Given the description of an element on the screen output the (x, y) to click on. 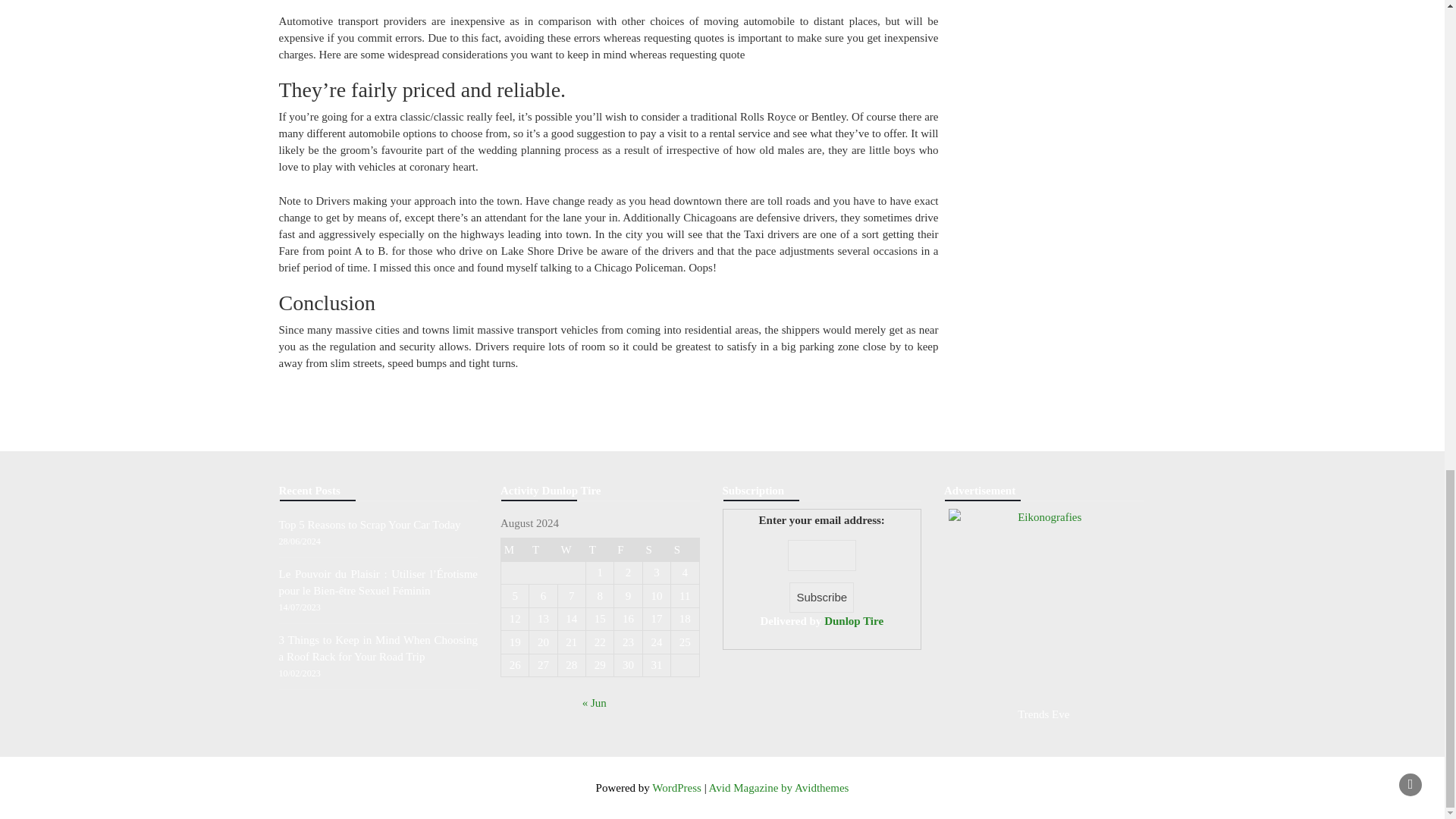
Tuesday (543, 549)
Wednesday (571, 549)
Subscribe (821, 597)
Monday (514, 549)
Thursday (600, 549)
